Given the description of an element on the screen output the (x, y) to click on. 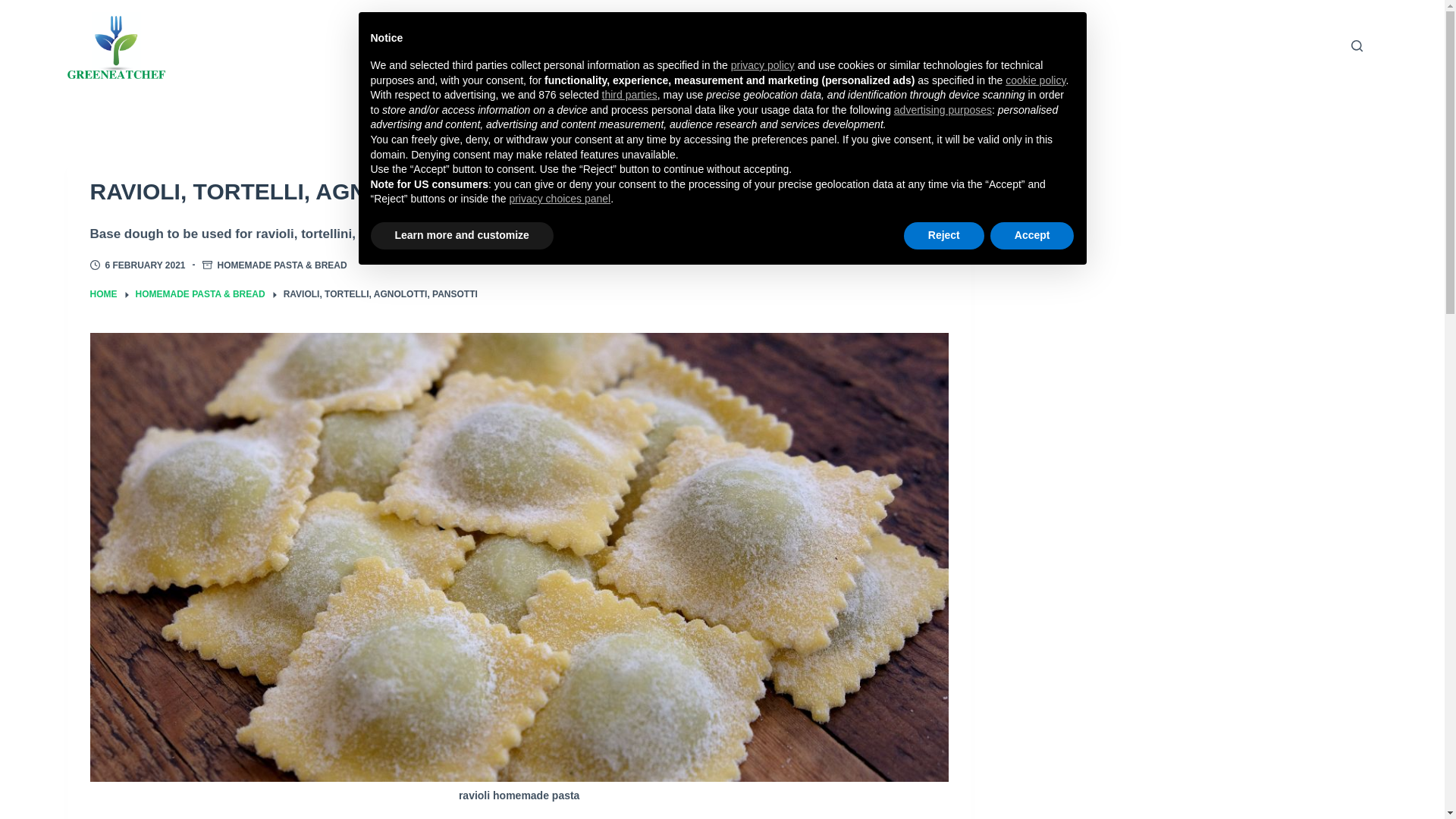
COOKBOOK (565, 45)
CONTACT FORM (840, 45)
Skip to content (15, 7)
RAVIOLI, TORTELLI, AGNOLOTTI, PANSOTTI (517, 191)
GREEN PLANET (699, 45)
HOME (102, 294)
